Given the description of an element on the screen output the (x, y) to click on. 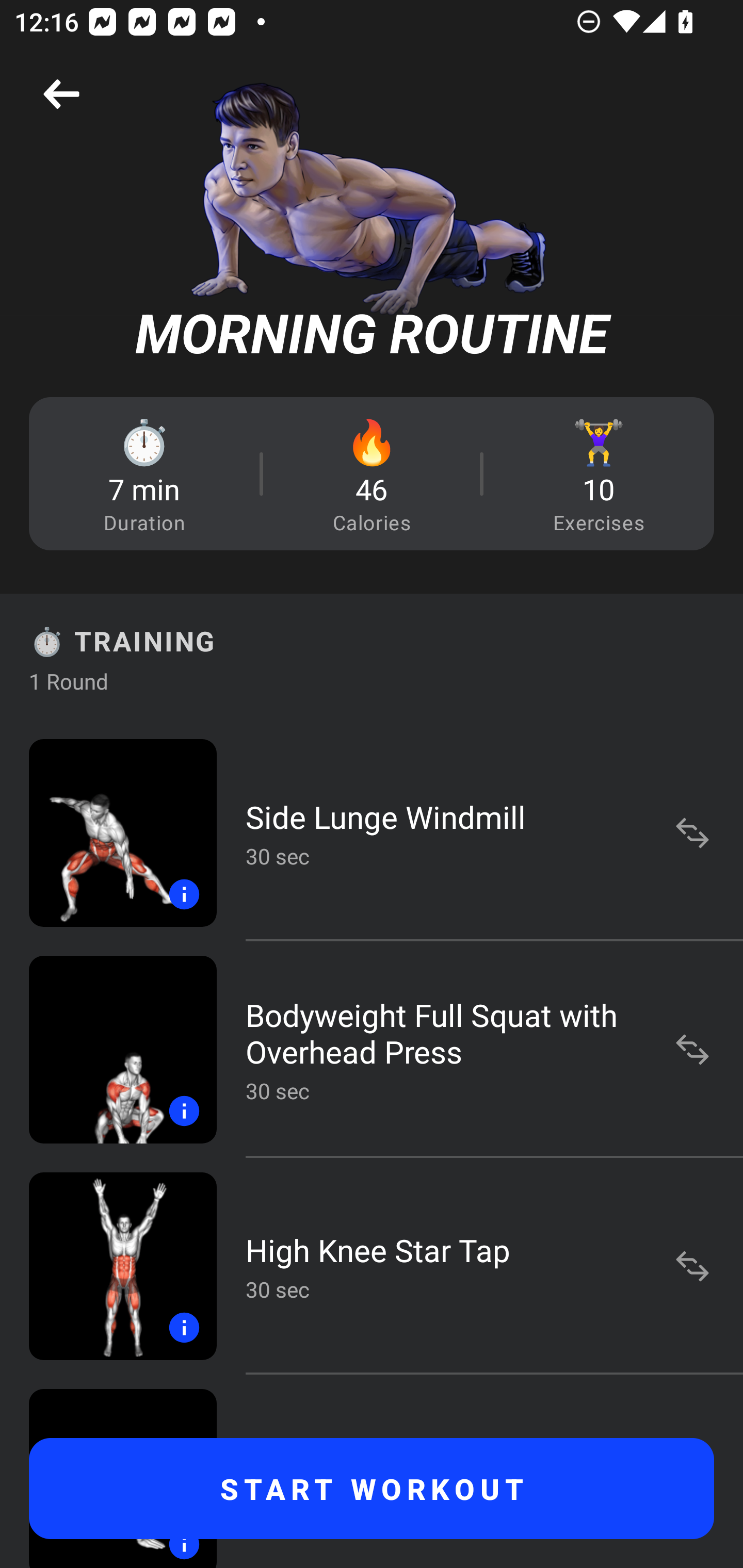
Side Lunge Windmill 30 sec (371, 832)
Bodyweight Full Squat with Overhead Press 30 sec (371, 1048)
High Knee Star Tap 30 sec (371, 1266)
START WORKOUT (371, 1488)
